Given the description of an element on the screen output the (x, y) to click on. 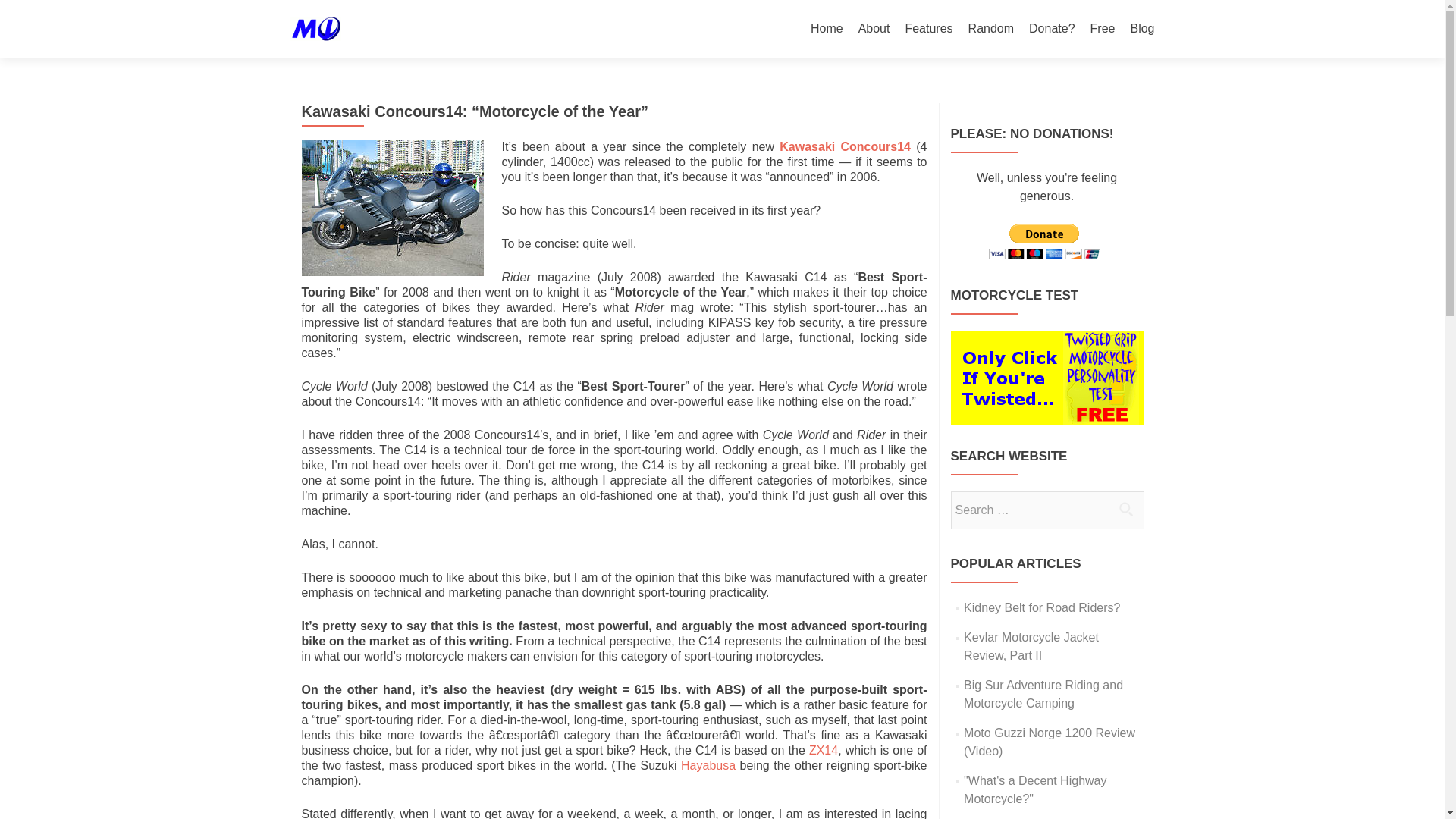
Suzuki Hayabusa (710, 765)
Features (928, 28)
Big Sur Adventure Riding and Motorcycle Camping (1042, 694)
Home (826, 28)
Hayabusa (710, 765)
Kawasaki ZX14 (823, 749)
Kevlar Motorcycle Jacket Review, Part II (1031, 645)
Kawasaki Concours 14 (844, 146)
Random (990, 28)
ZX14 (823, 749)
Search (1125, 508)
Search (1125, 508)
Kawasaki Concours14 (844, 146)
Blog (1141, 28)
Kidney Belt for Road Riders? (1041, 607)
